Given the description of an element on the screen output the (x, y) to click on. 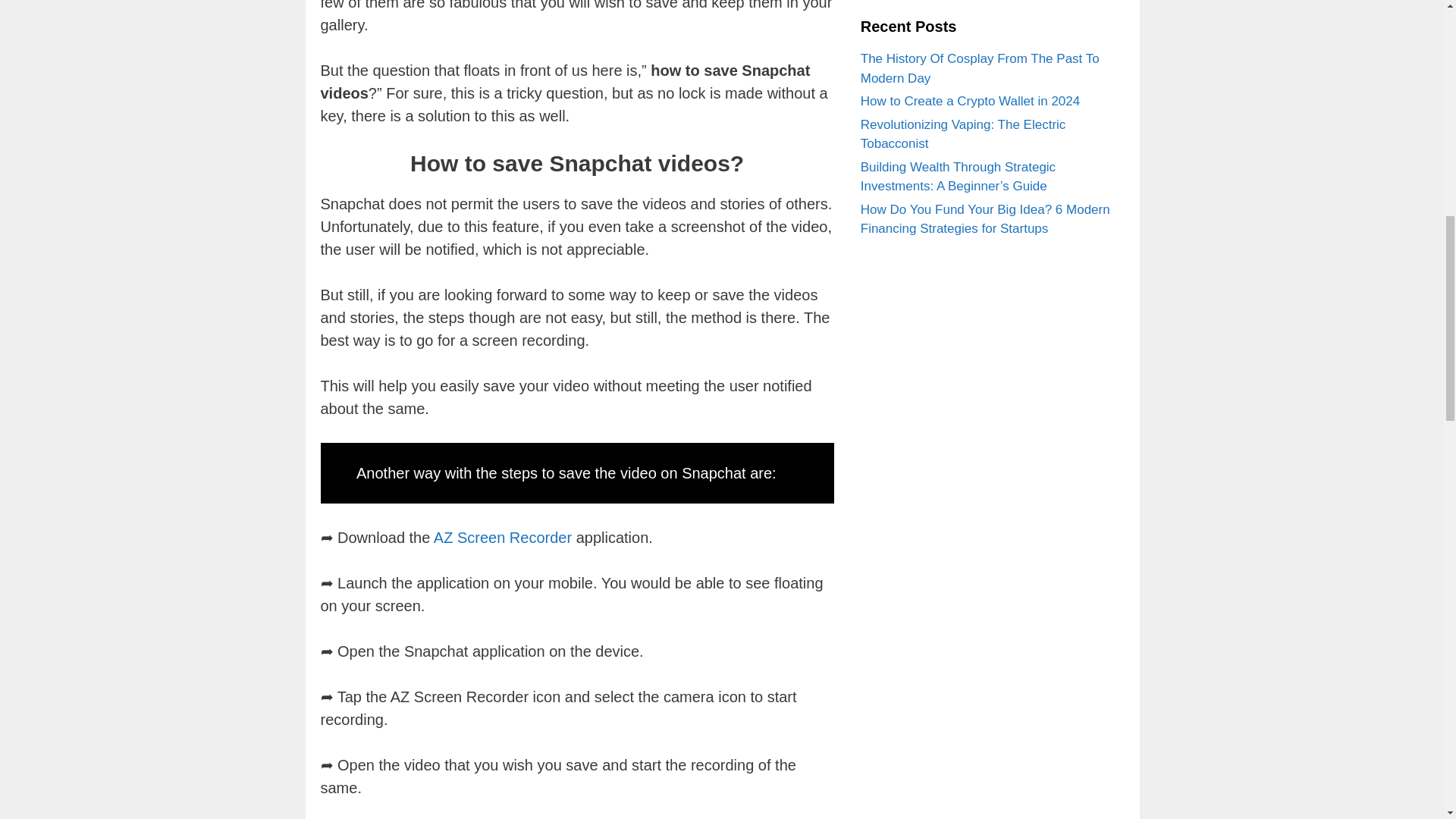
AZ Screen Recorder (502, 537)
